Given the description of an element on the screen output the (x, y) to click on. 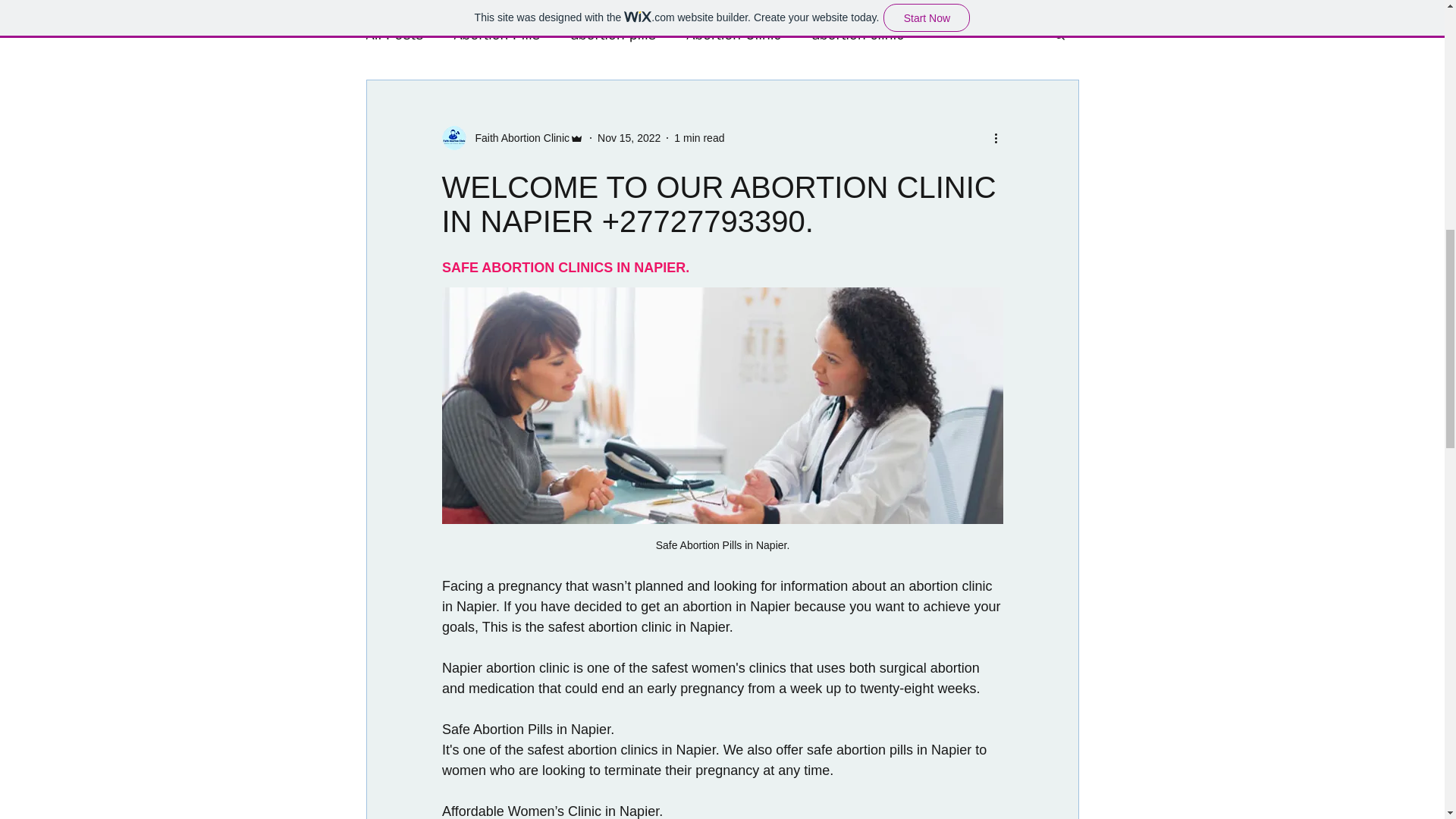
Nov 15, 2022 (628, 137)
1 min read (698, 137)
Faith Abortion Clinic (517, 138)
